Given the description of an element on the screen output the (x, y) to click on. 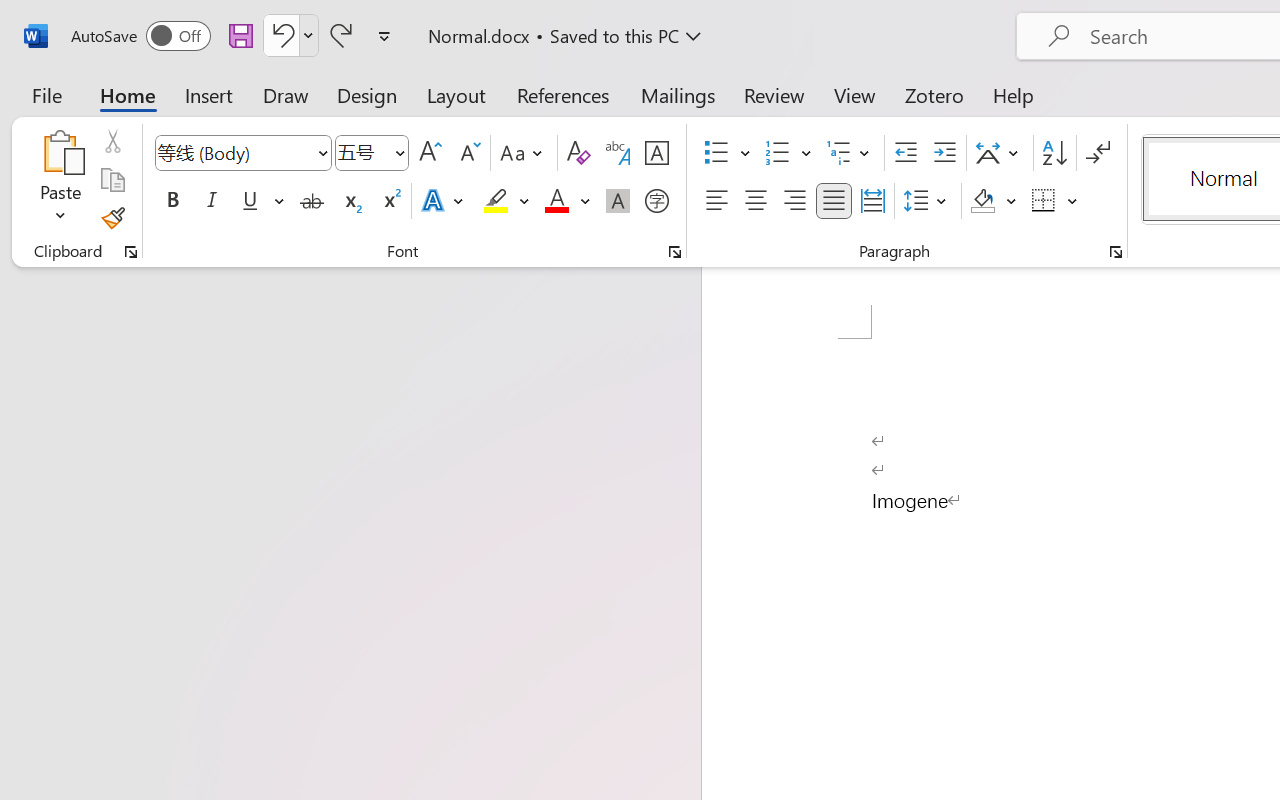
Font... (675, 252)
Text Highlight Color Yellow (495, 201)
Distributed (872, 201)
Asian Layout (1000, 153)
Character Shading (618, 201)
Redo Style (341, 35)
Align Right (794, 201)
Shading RGB(0, 0, 0) (982, 201)
Undo Typing (280, 35)
Text Highlight Color (506, 201)
Bold (172, 201)
